Given the description of an element on the screen output the (x, y) to click on. 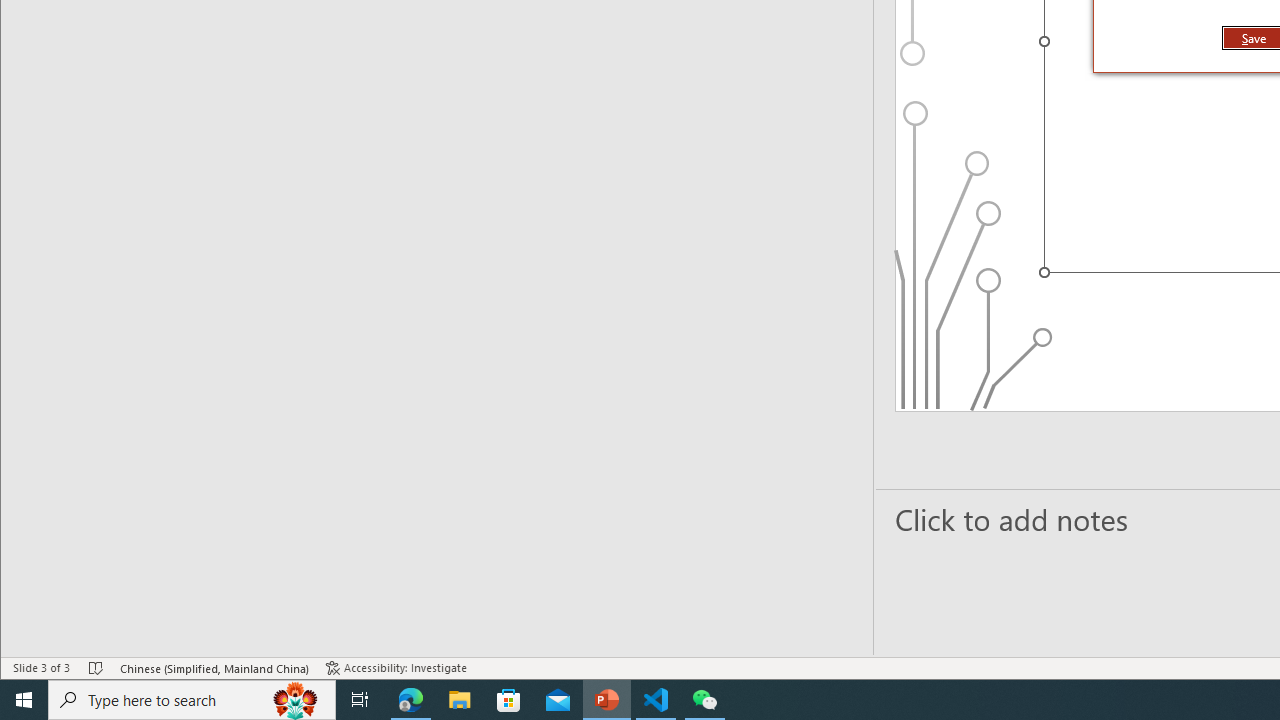
PowerPoint - 1 running window (607, 699)
Microsoft Store (509, 699)
Visual Studio Code - 1 running window (656, 699)
Start (24, 699)
Microsoft Edge - 1 running window (411, 699)
File Explorer (460, 699)
Search highlights icon opens search home window (295, 699)
WeChat - 1 running window (704, 699)
Type here to search (191, 699)
Task View (359, 699)
